Given the description of an element on the screen output the (x, y) to click on. 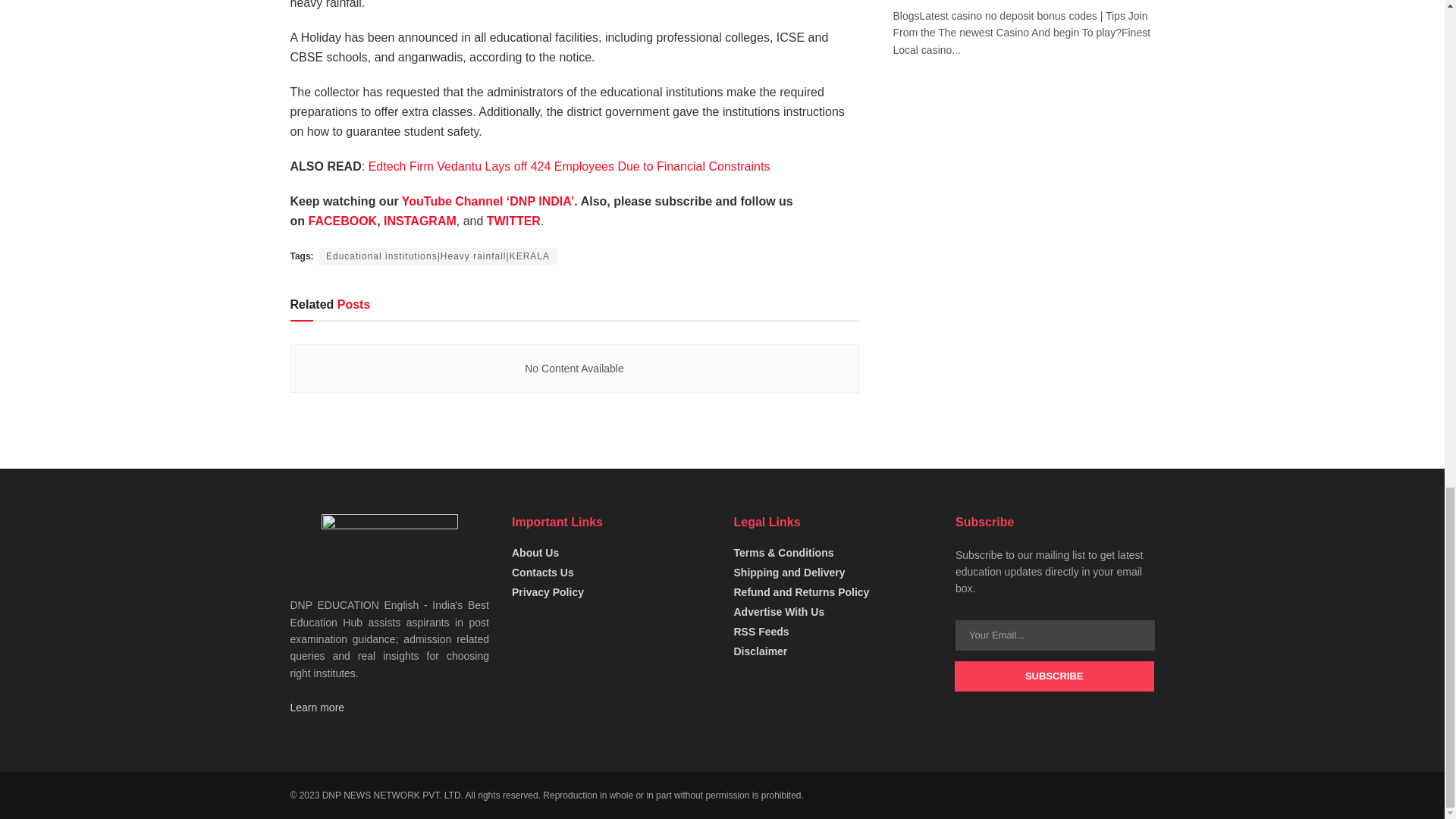
Subscribe (1054, 675)
